Given the description of an element on the screen output the (x, y) to click on. 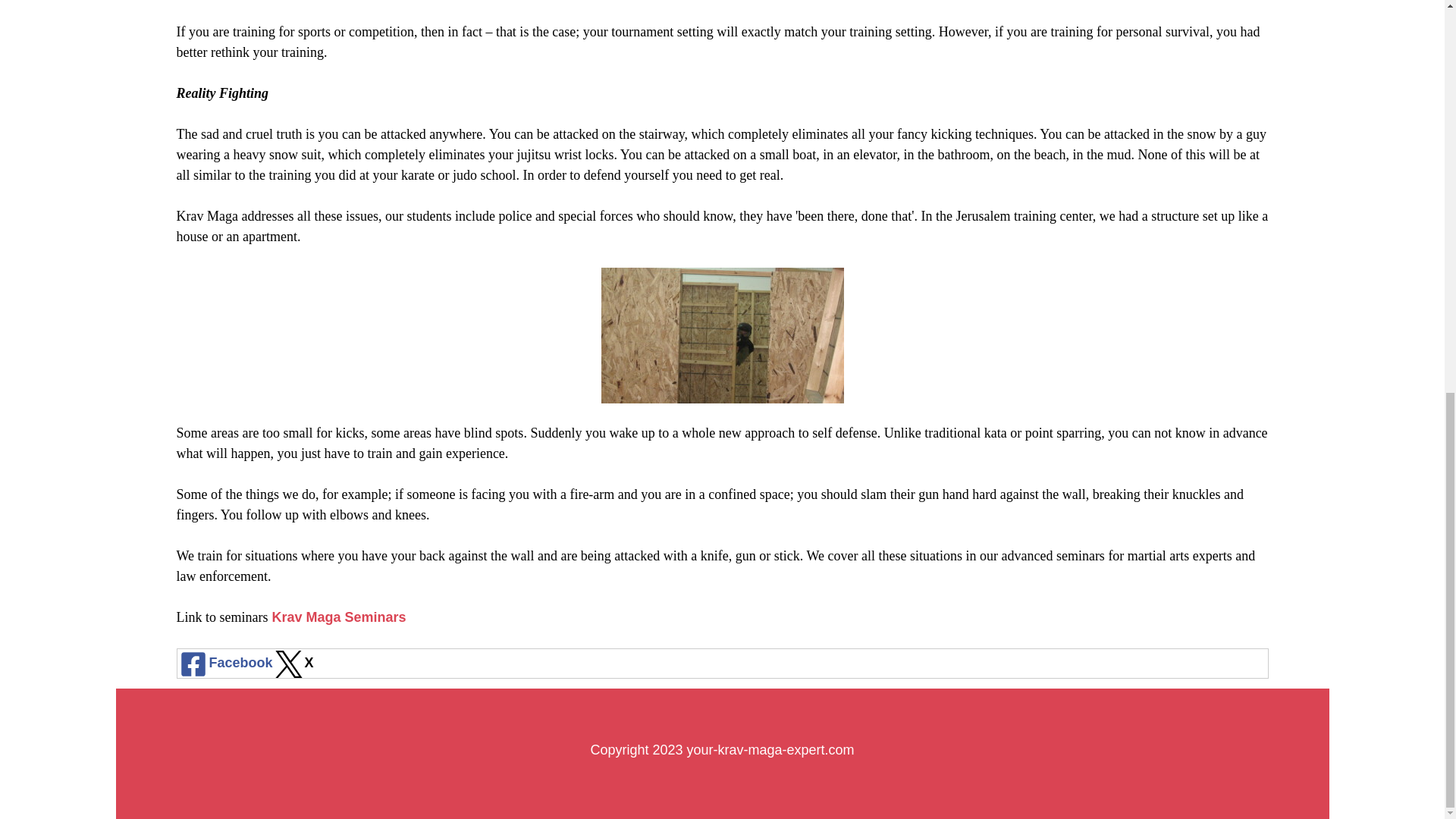
Facebook (225, 663)
X (293, 663)
Krav Maga Seminars (338, 616)
